Given the description of an element on the screen output the (x, y) to click on. 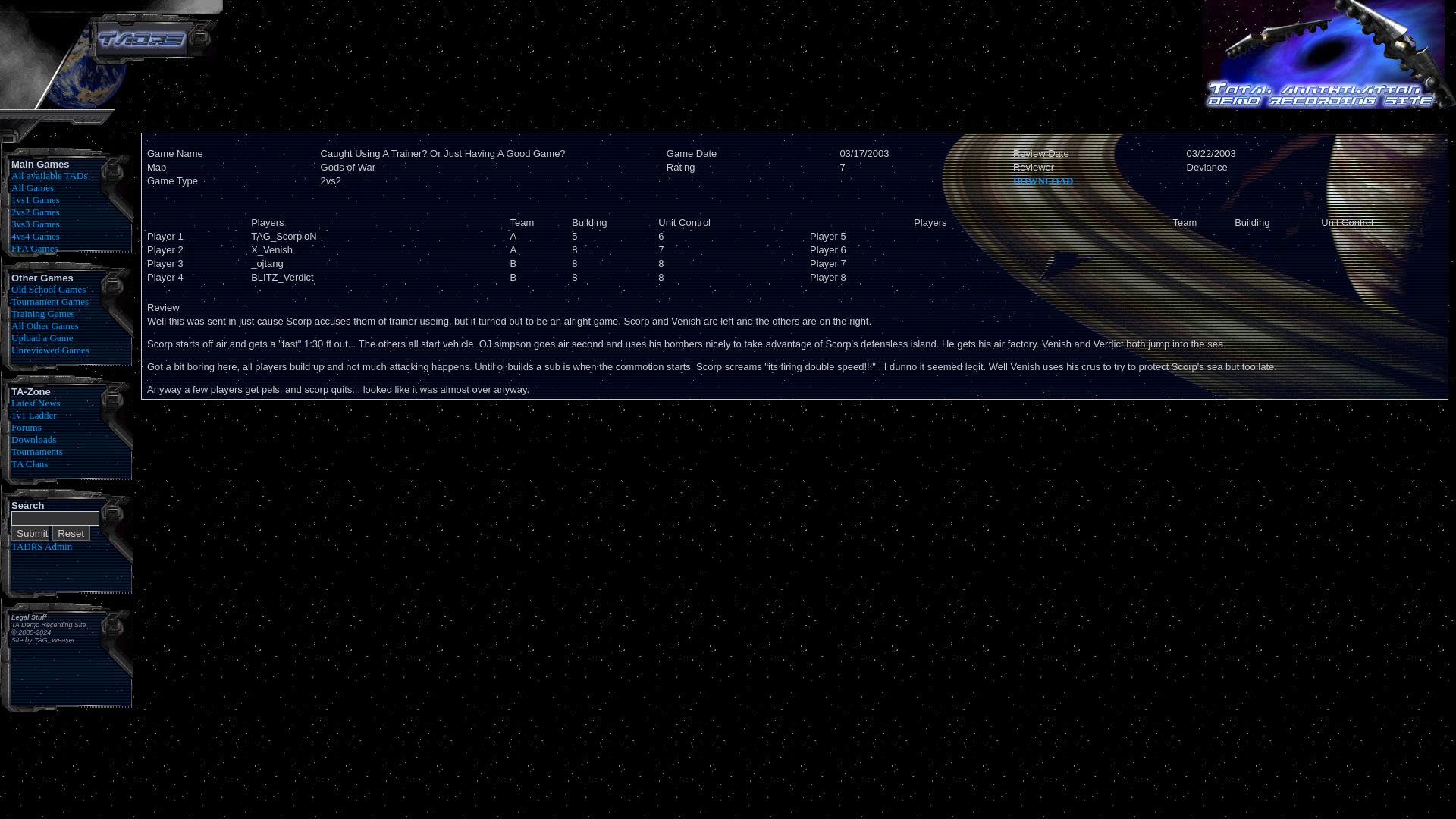
Latest News (36, 402)
TA Clans (29, 463)
Forums (26, 427)
4vs4 Games (35, 235)
DOWNLOAD (1043, 180)
2vs2 Games (35, 211)
FFA Games (34, 247)
TADRS Admin (41, 546)
All available TADs (49, 174)
3vs3 Games (35, 224)
